Given the description of an element on the screen output the (x, y) to click on. 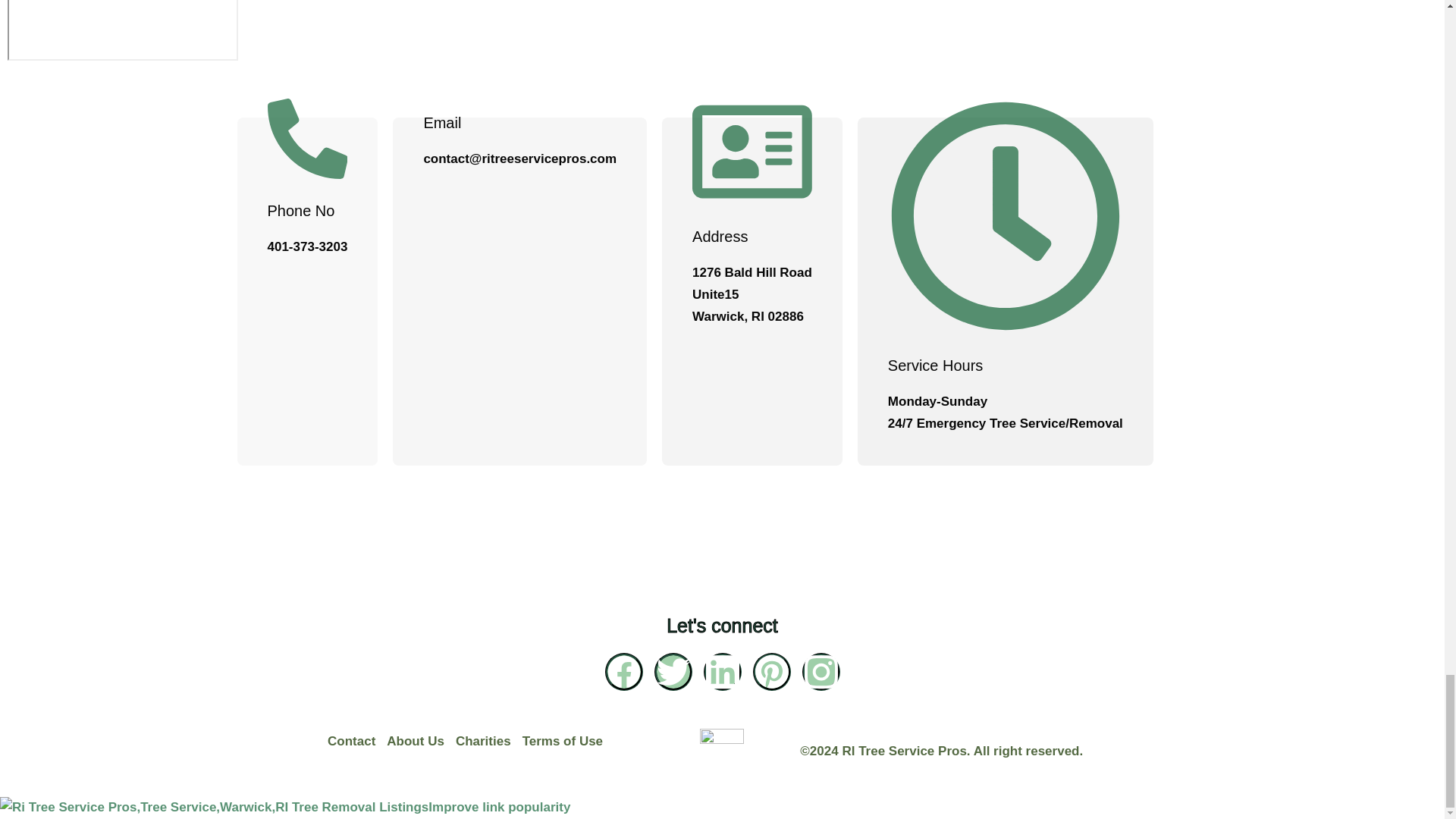
Rhode Island, United States (122, 30)
Instagram (821, 671)
About Us (421, 741)
Contact (357, 741)
Facebook (624, 671)
Pinterest (771, 671)
Twitter (672, 671)
Terms of Use (568, 741)
Improve link popularity (499, 807)
Tree Removal Listings (360, 807)
Linkedin (722, 671)
Charities (488, 741)
